Given the description of an element on the screen output the (x, y) to click on. 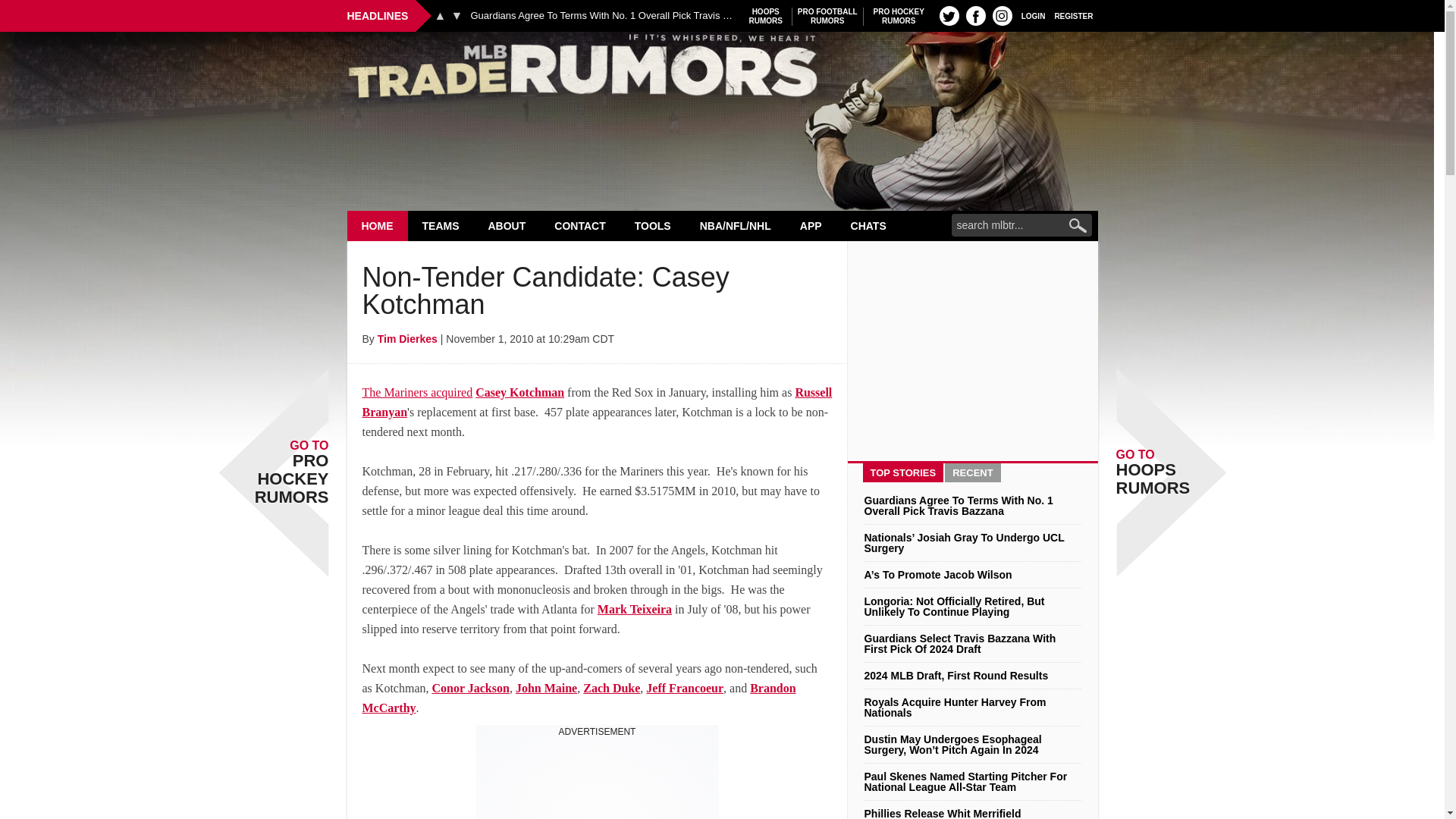
FB profile (975, 15)
Next (456, 15)
HOME (377, 225)
LOGIN (1032, 15)
TEAMS (440, 225)
3rd party ad content (597, 778)
Twitter profile (949, 15)
Instagram profile (1001, 15)
REGISTER (1073, 15)
MLB Trade Rumors (765, 16)
Previous (898, 16)
